Given the description of an element on the screen output the (x, y) to click on. 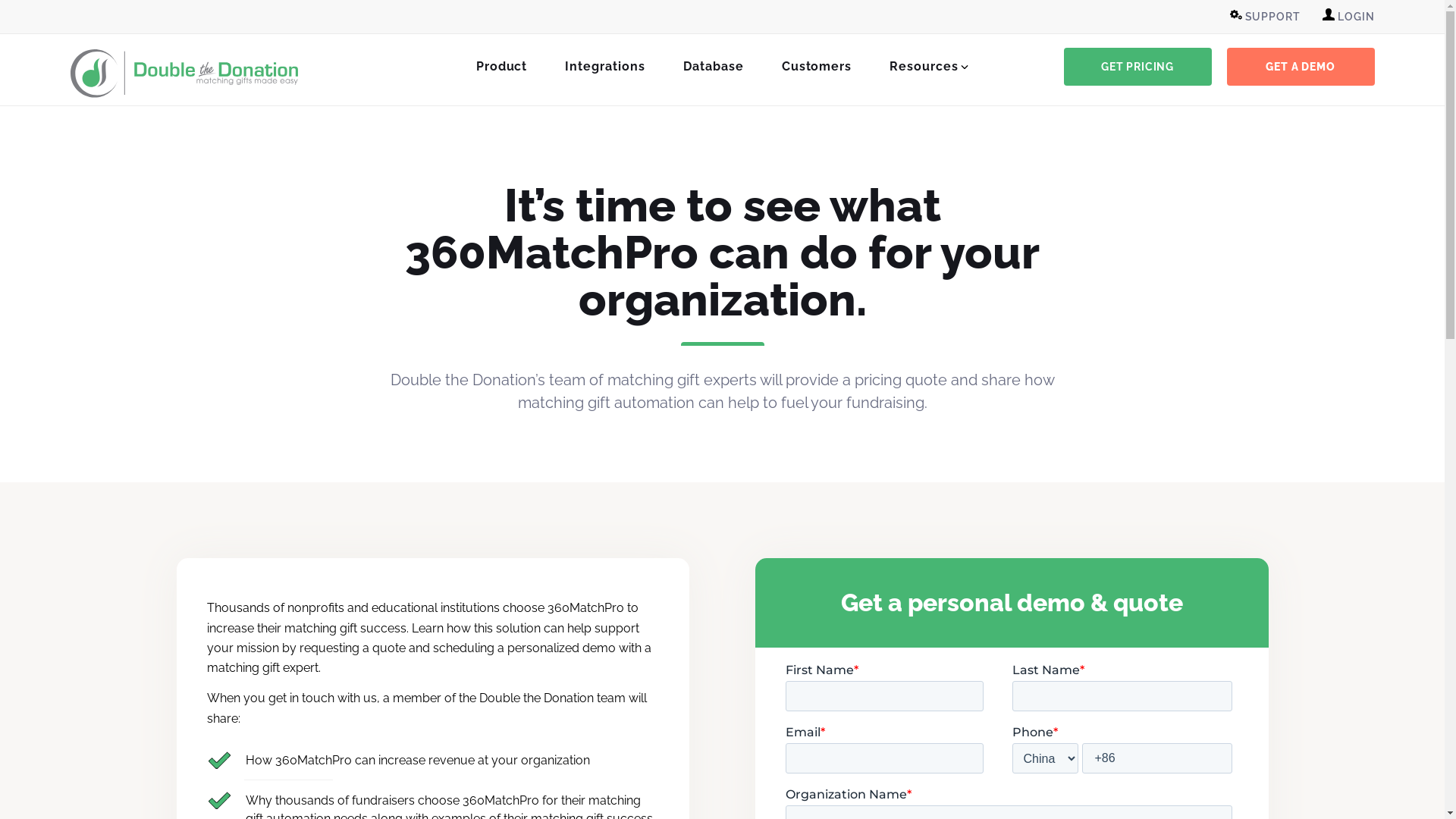
Database Element type: text (713, 66)
Customers Element type: text (816, 66)
logo-dtd Element type: hover (183, 73)
Product Element type: text (501, 66)
Resources Element type: text (923, 66)
GET A DEMO Element type: text (1300, 65)
logo-dtd Element type: hover (183, 73)
Integrations Element type: text (604, 66)
LOGIN Element type: text (1348, 16)
GET PRICING Element type: text (1137, 65)
SUPPORT Element type: text (1265, 16)
